Given the description of an element on the screen output the (x, y) to click on. 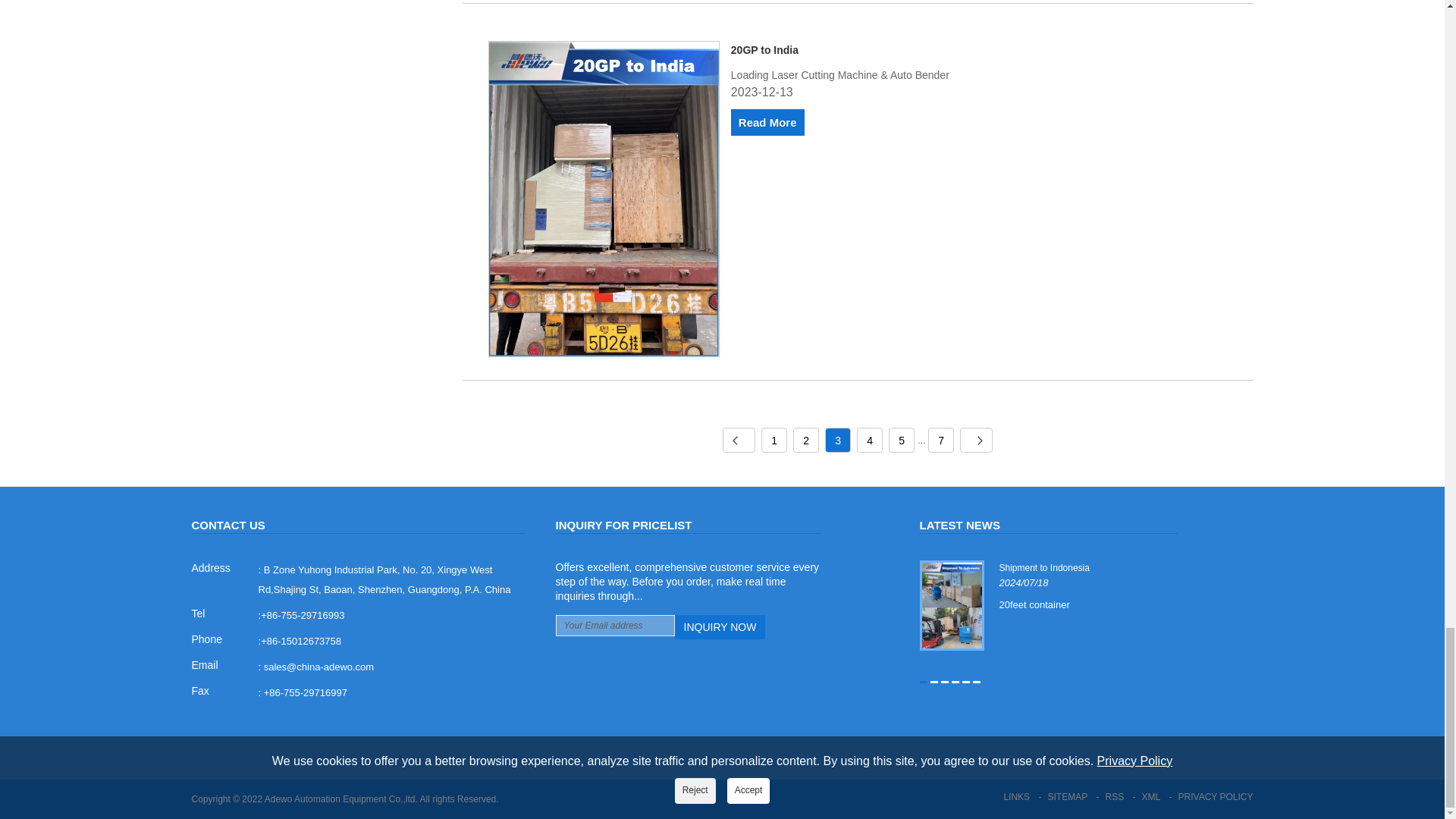
Your Email address (614, 625)
Inquiry Now (720, 627)
